Given the description of an element on the screen output the (x, y) to click on. 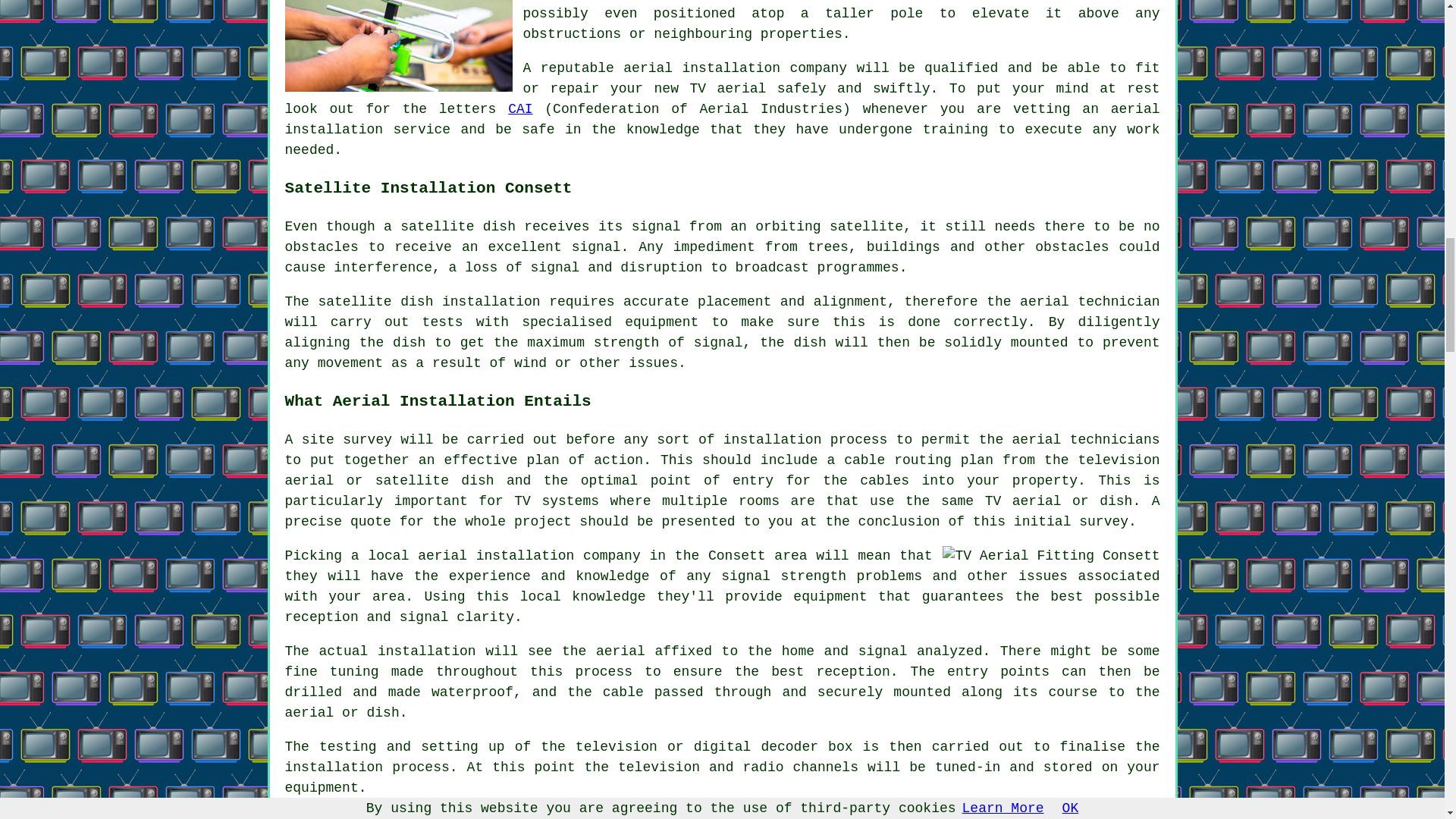
TV Aerial Fitting Consett (1050, 556)
Aerial Fitters Consett (398, 45)
